Given the description of an element on the screen output the (x, y) to click on. 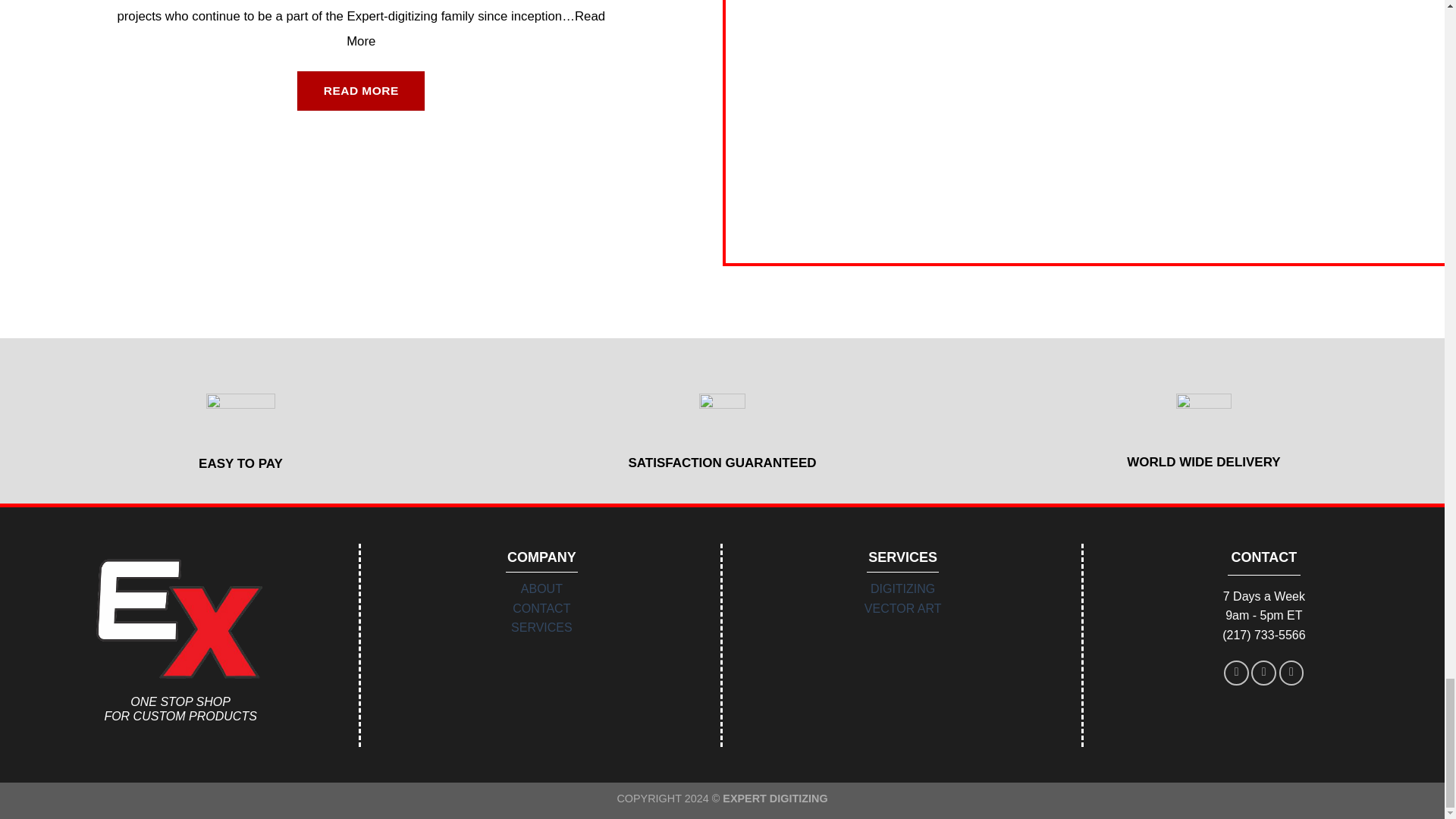
Read More (475, 29)
Follow on Facebook (1236, 672)
Send us an email (1263, 672)
SERVICES (541, 626)
Call us (1291, 672)
CONTACT (541, 608)
ABOUT (541, 588)
VECTOR ART (903, 608)
DIGITIZING (902, 588)
READ MORE (361, 91)
